Given the description of an element on the screen output the (x, y) to click on. 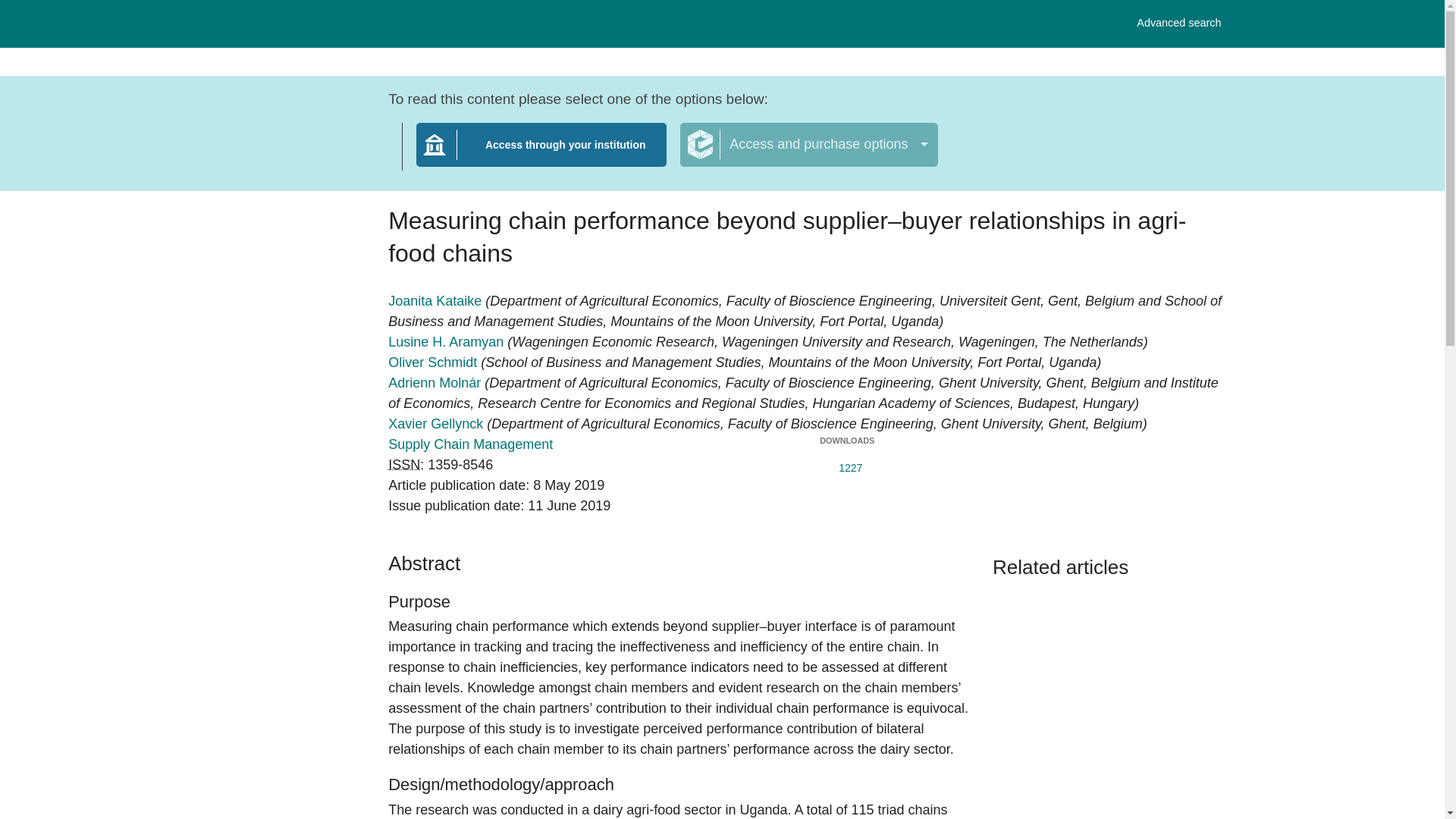
Supply Chain Management (470, 444)
Access and purchase options (808, 144)
International Standard Serial Number. (404, 464)
Oliver Schmidt (434, 362)
Lusine H. Aramyan (447, 341)
Xavier Gellynck (437, 423)
Joanita Kataike (436, 300)
This item has been downloaded 1227 times since 2019. (846, 464)
Access through your institution (541, 153)
